Given the description of an element on the screen output the (x, y) to click on. 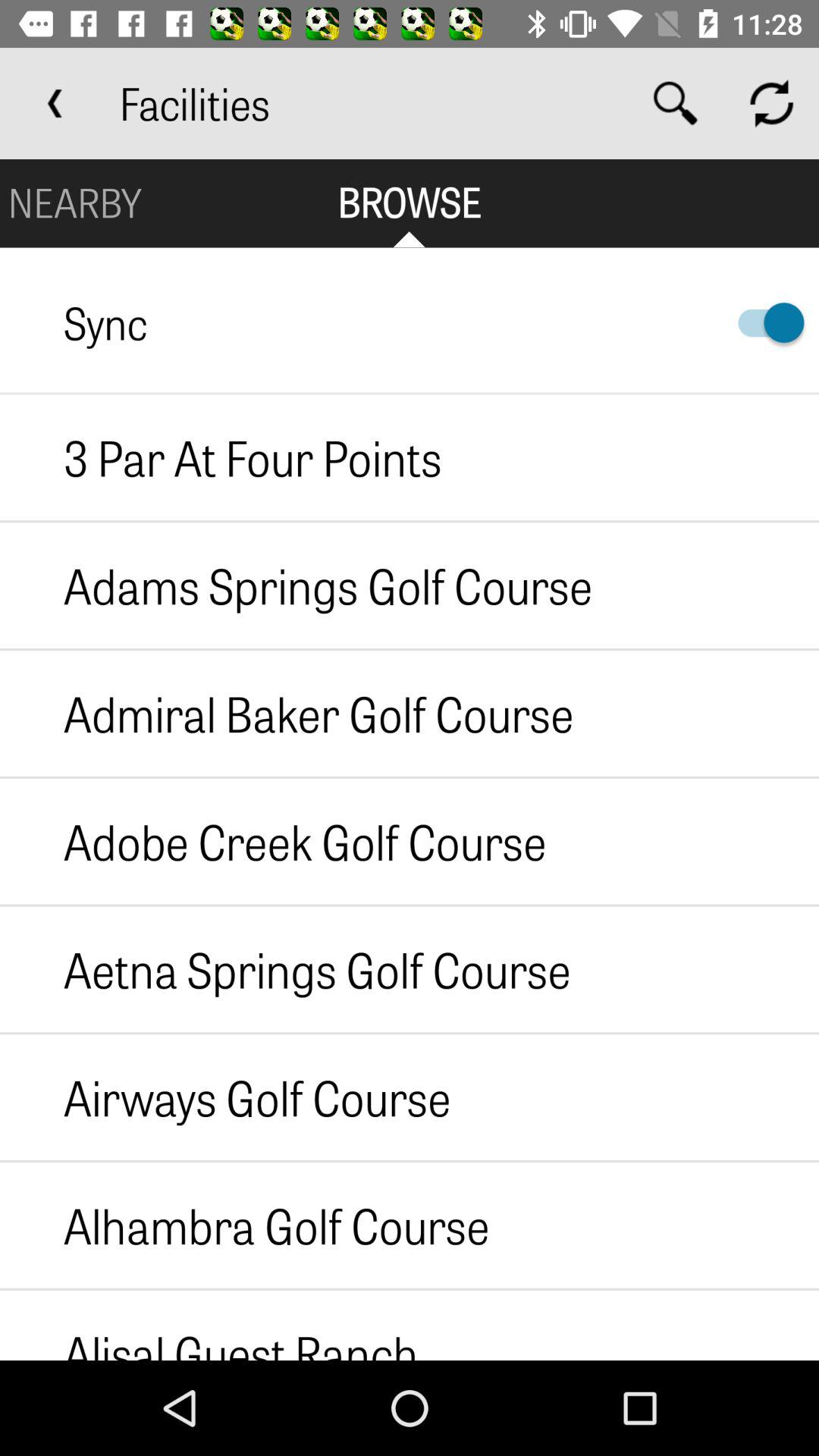
launch alhambra golf course (244, 1225)
